Given the description of an element on the screen output the (x, y) to click on. 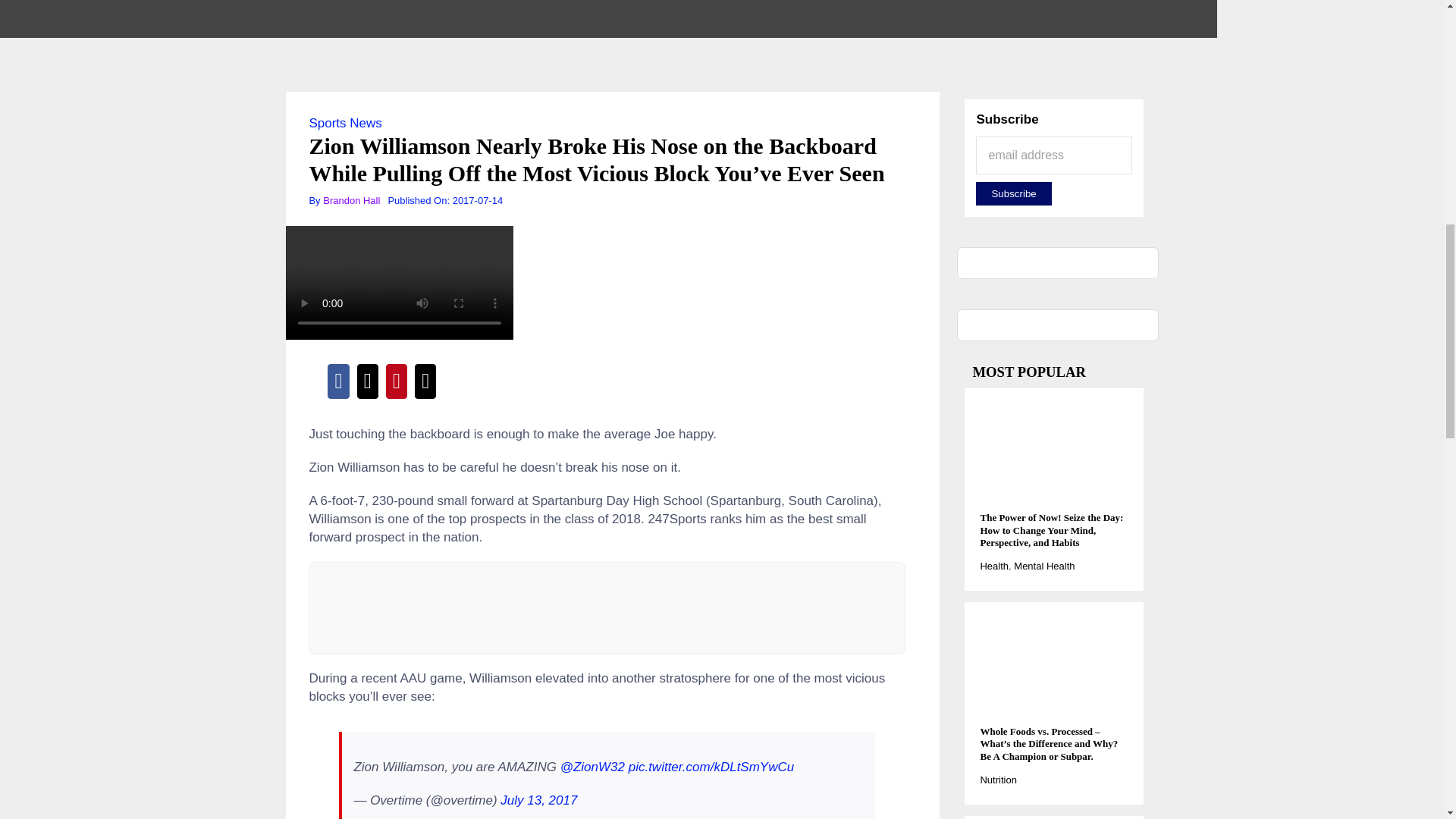
Sports News (344, 123)
Posts by Brandon Hall (351, 200)
Subscribe (1013, 193)
